Given the description of an element on the screen output the (x, y) to click on. 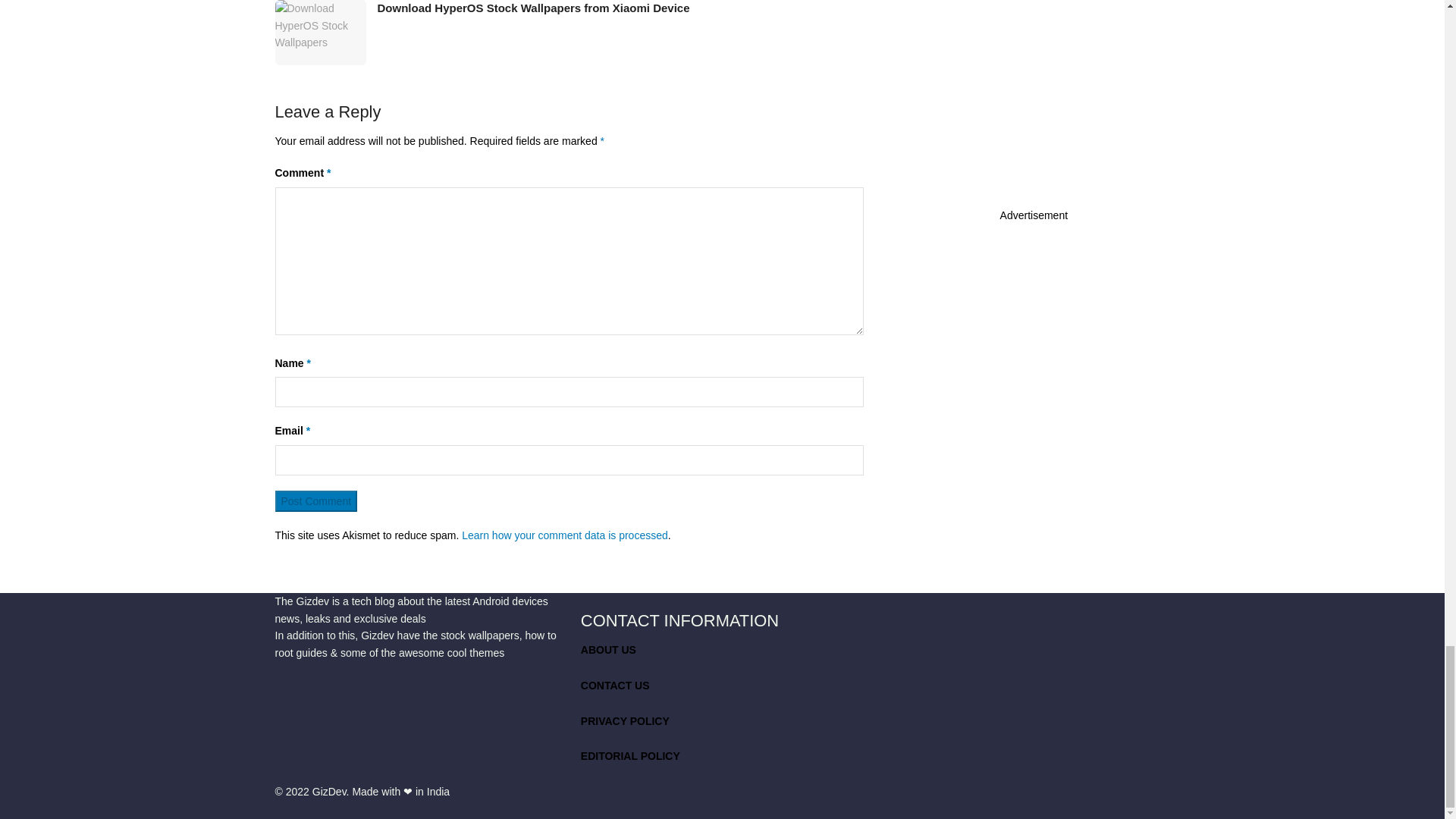
Post Comment (315, 500)
